Given the description of an element on the screen output the (x, y) to click on. 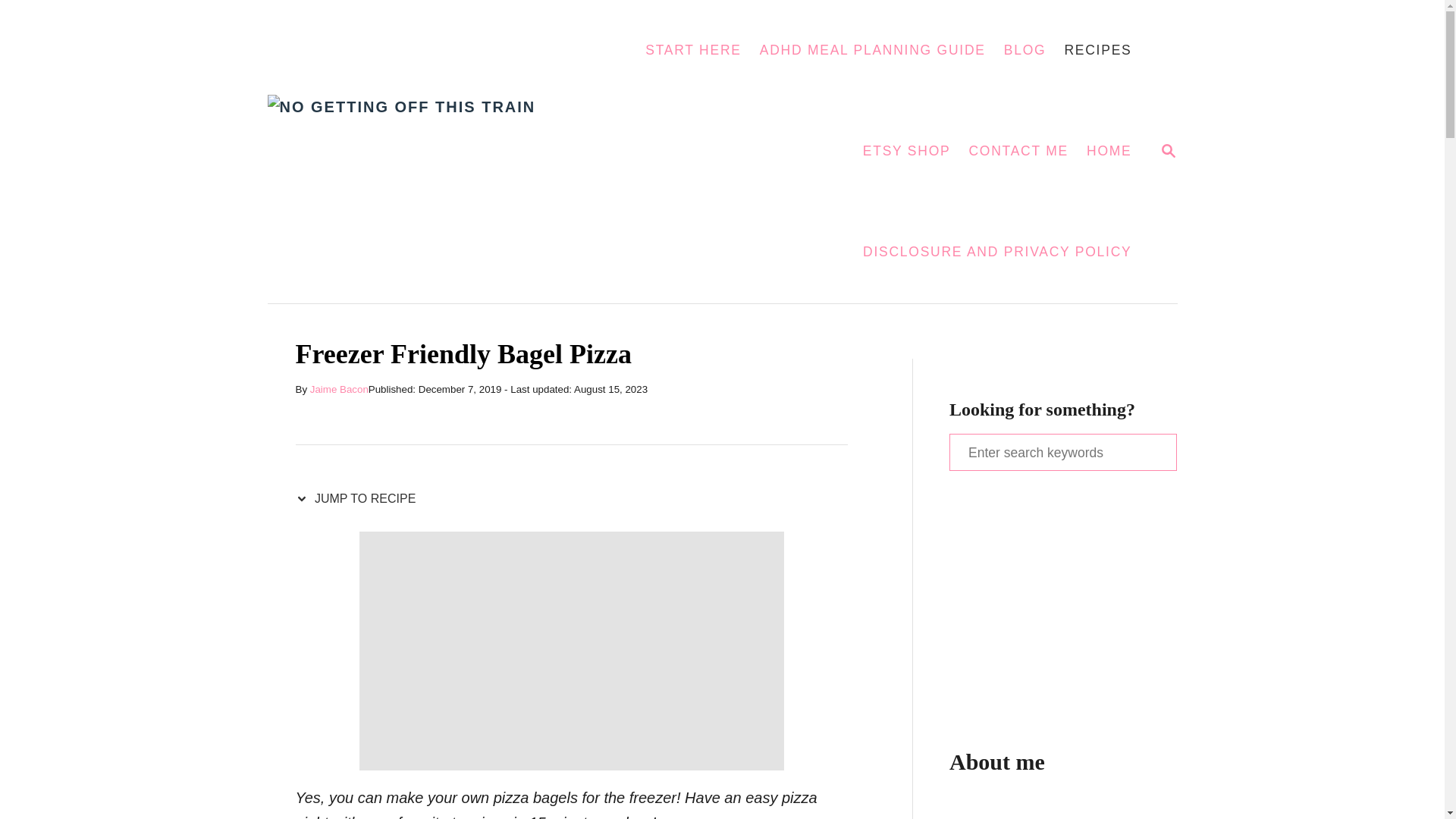
CONTACT ME (1018, 151)
No Getting Off This Train (1167, 150)
Search (439, 151)
Jaime Bacon (22, 22)
HOME (339, 389)
DISCLOSURE AND PRIVACY POLICY (1109, 151)
START HERE (997, 252)
RECIPES (692, 50)
JUMP TO RECIPE (1097, 50)
